Given the description of an element on the screen output the (x, y) to click on. 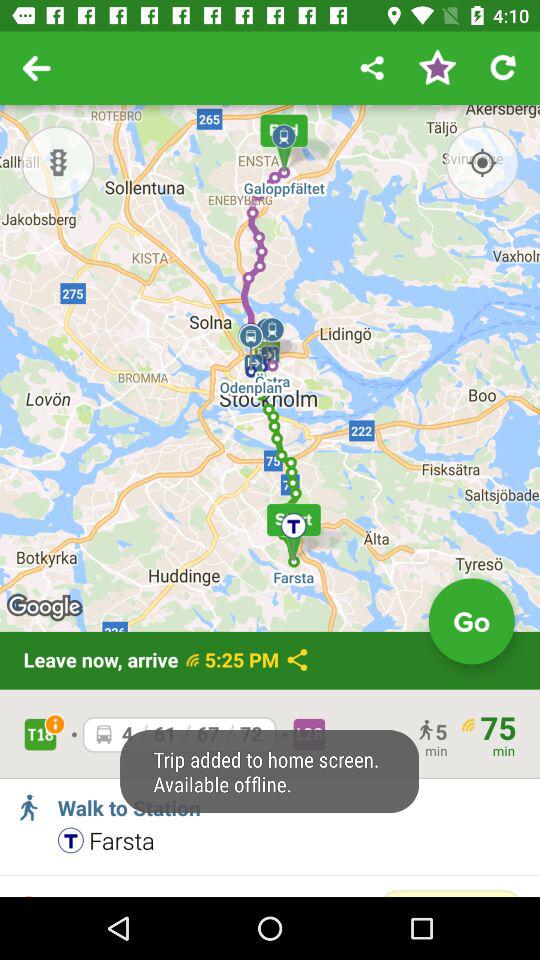
like option (437, 68)
